Given the description of an element on the screen output the (x, y) to click on. 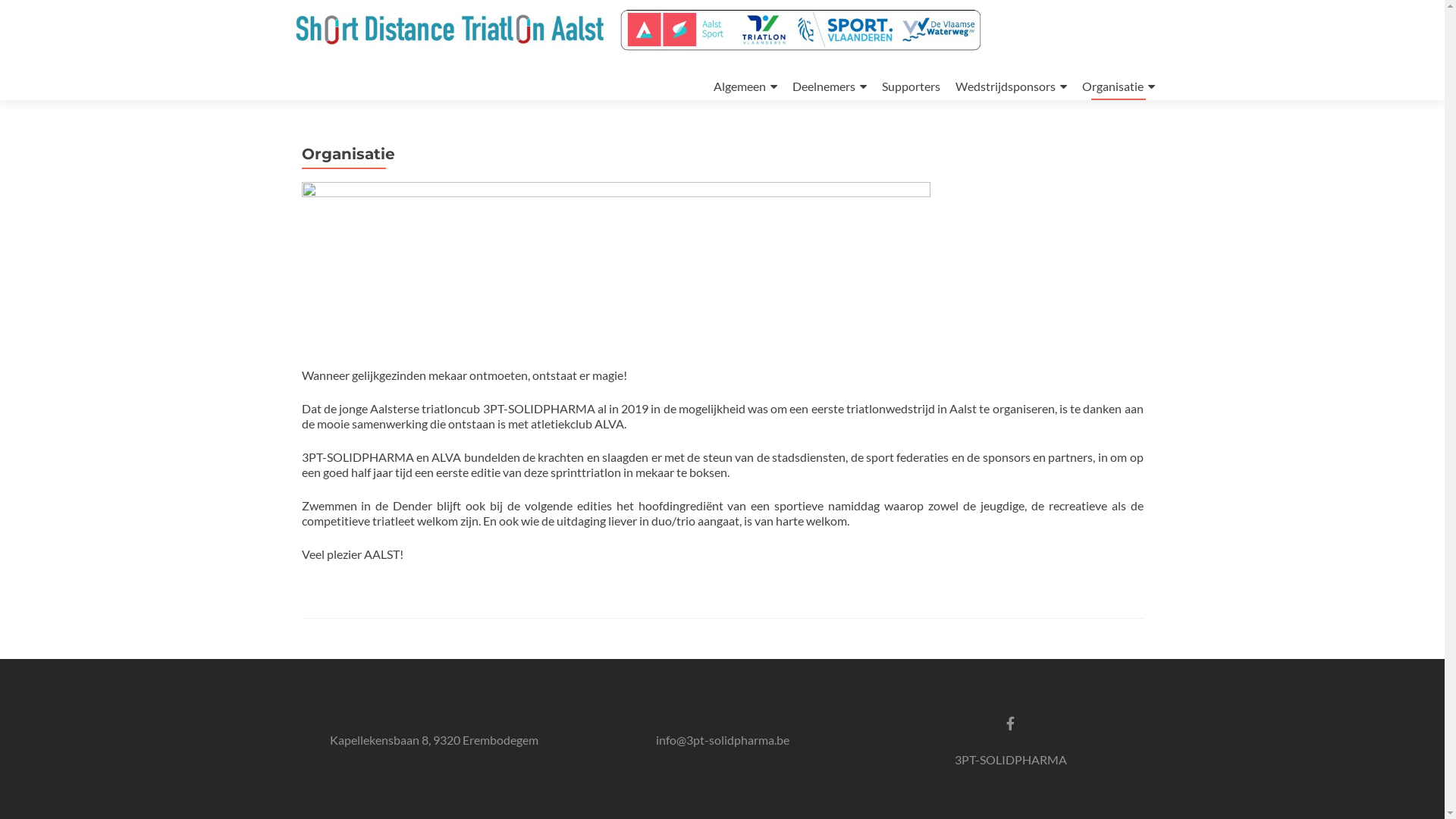
Algemeen Element type: text (744, 86)
Deelnemers Element type: text (828, 86)
Wedstrijdsponsors Element type: text (1010, 86)
Organisatie Element type: text (1117, 86)
Facebook link Element type: text (1010, 721)
Supporters Element type: text (910, 85)
Skip to content Element type: text (712, 56)
